Given the description of an element on the screen output the (x, y) to click on. 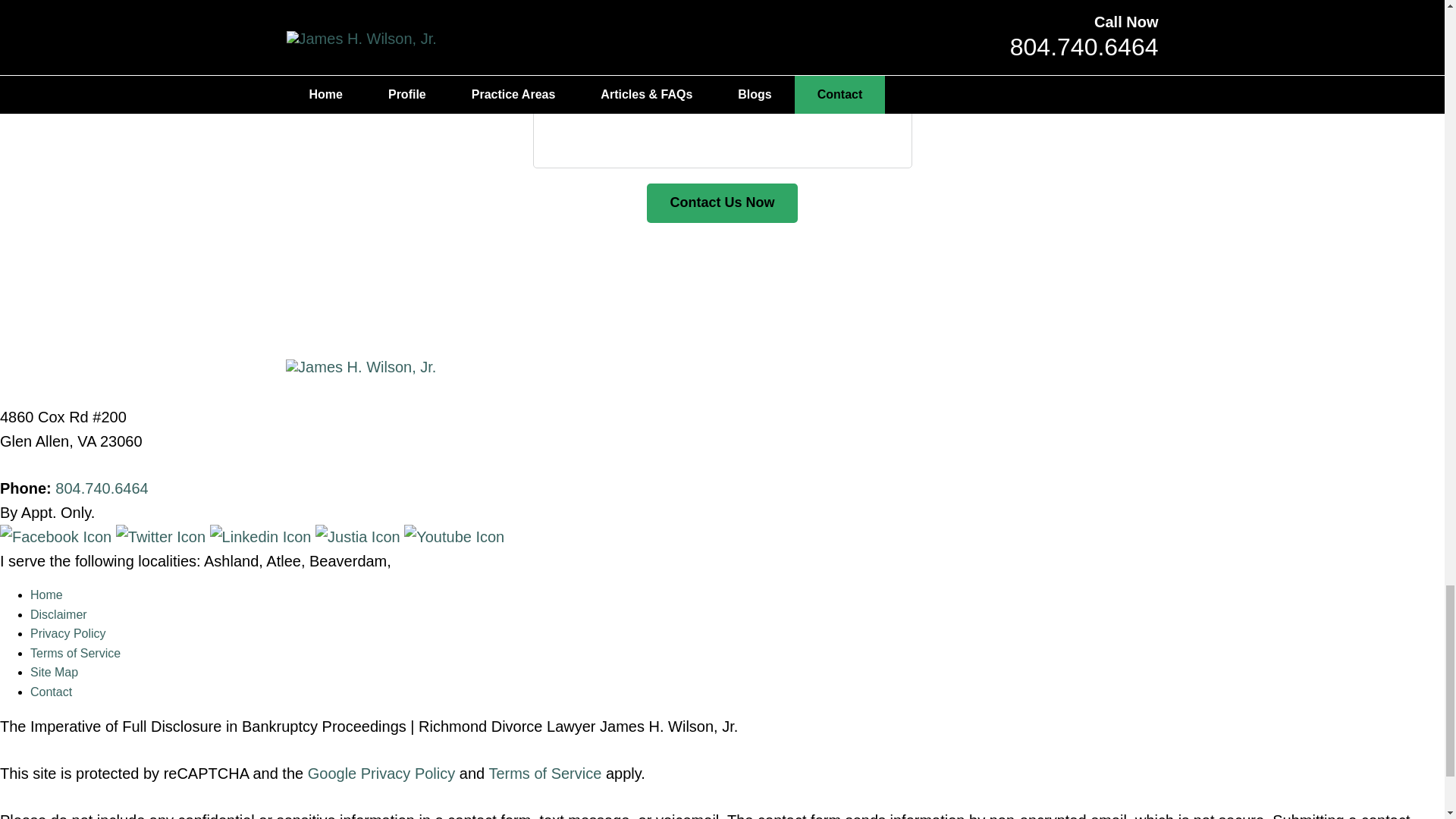
Terms of Service (75, 653)
Linkedin (262, 536)
Justia (359, 536)
Twitter (162, 536)
Facebook (58, 536)
Contact Us Now (721, 202)
Home (46, 594)
Youtube (453, 536)
804.740.6464 (101, 487)
Disclaimer (58, 614)
Privacy Policy (68, 633)
